Given the description of an element on the screen output the (x, y) to click on. 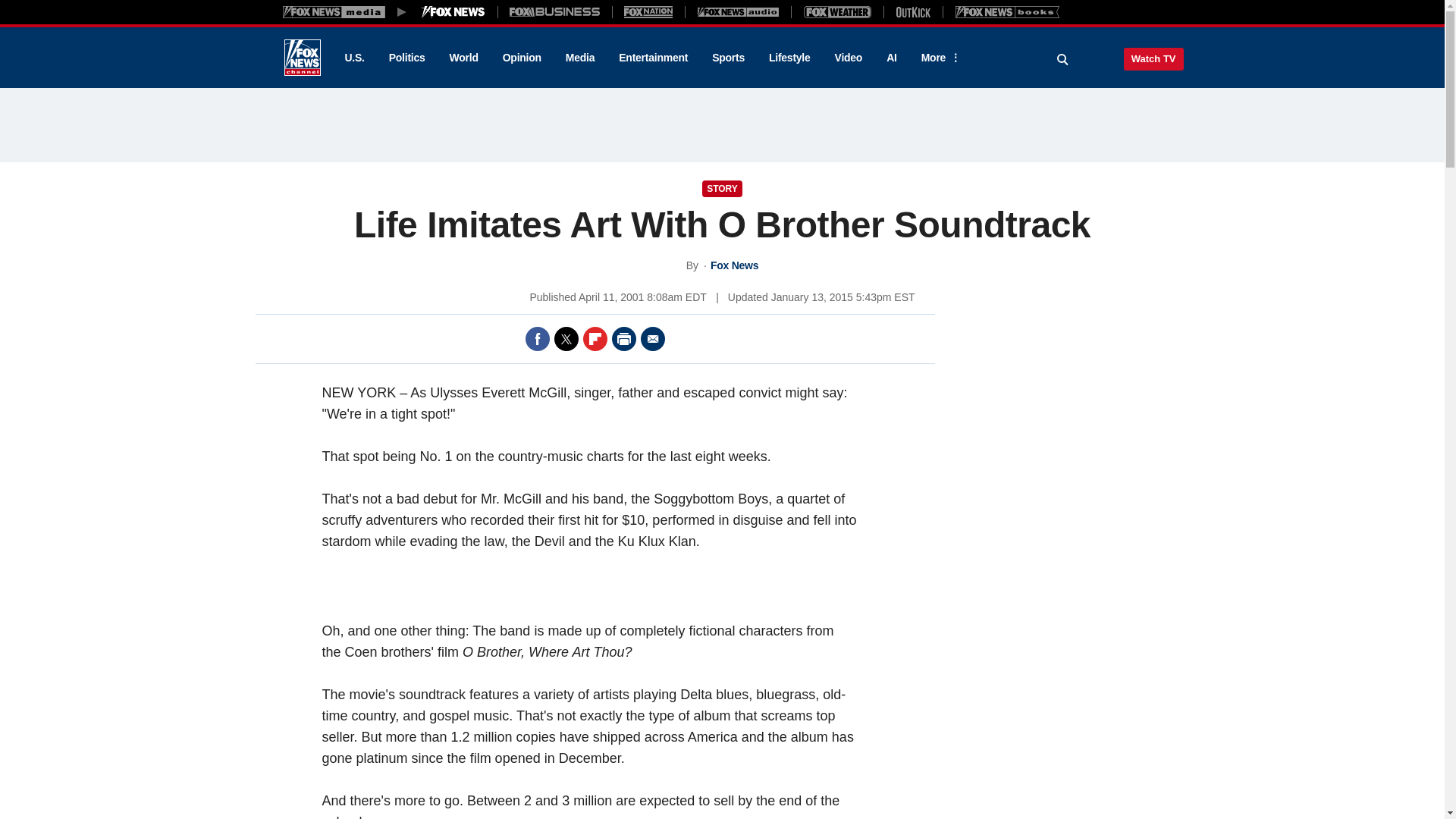
More (938, 57)
Politics (407, 57)
Outkick (912, 11)
AI (891, 57)
U.S. (353, 57)
Fox News Media (453, 11)
Watch TV (1153, 58)
Fox Business (554, 11)
Fox Nation (648, 11)
Sports (728, 57)
Fox News Audio (737, 11)
Entertainment (653, 57)
World (464, 57)
Media (580, 57)
Books (1007, 11)
